Given the description of an element on the screen output the (x, y) to click on. 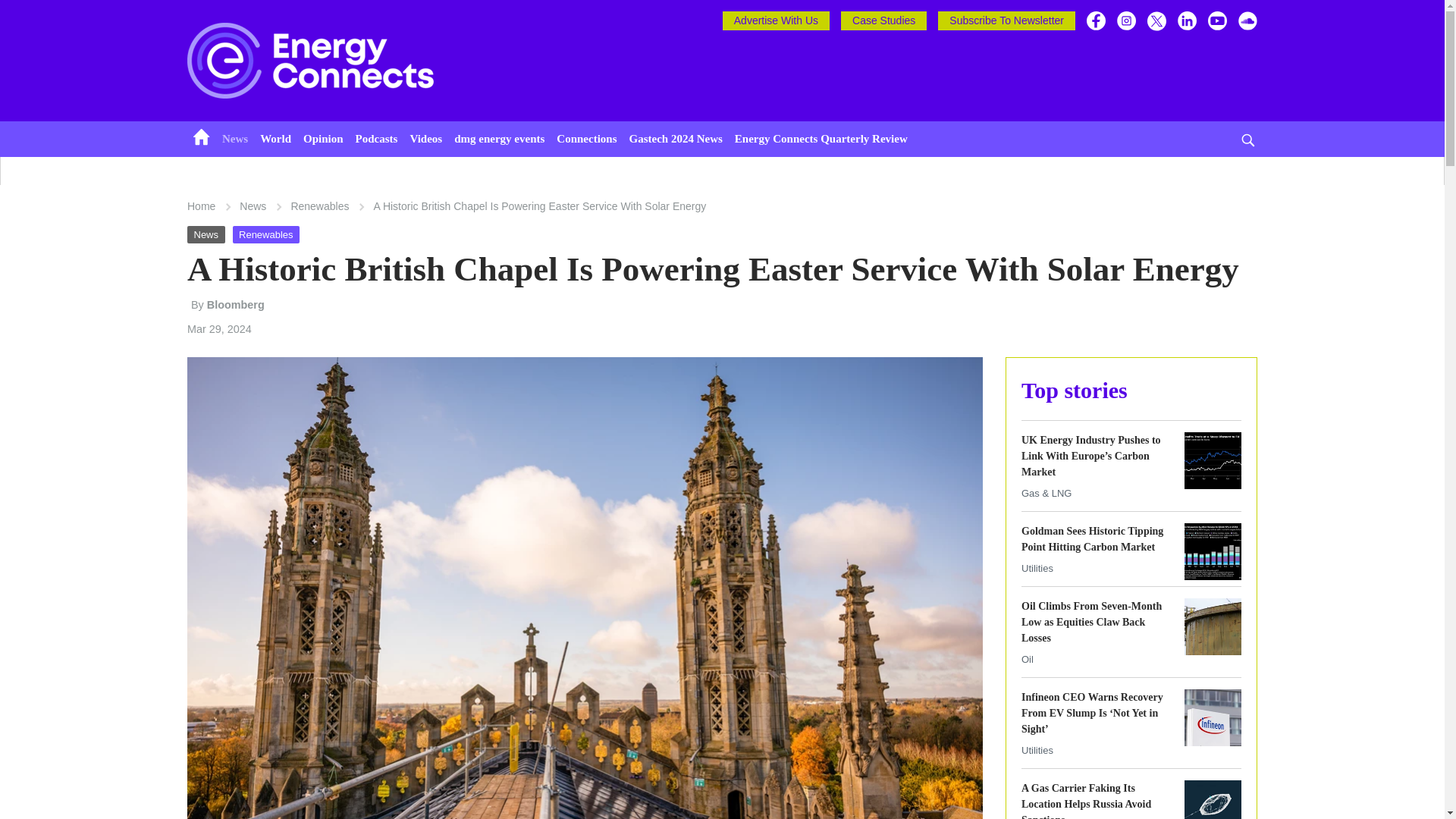
Advertise With Us (775, 20)
Subscribe To Newsletter (1006, 20)
Podcasts (376, 138)
Case Studies (883, 20)
World (275, 138)
News (234, 138)
Opinion (322, 138)
Videos (425, 138)
